Given the description of an element on the screen output the (x, y) to click on. 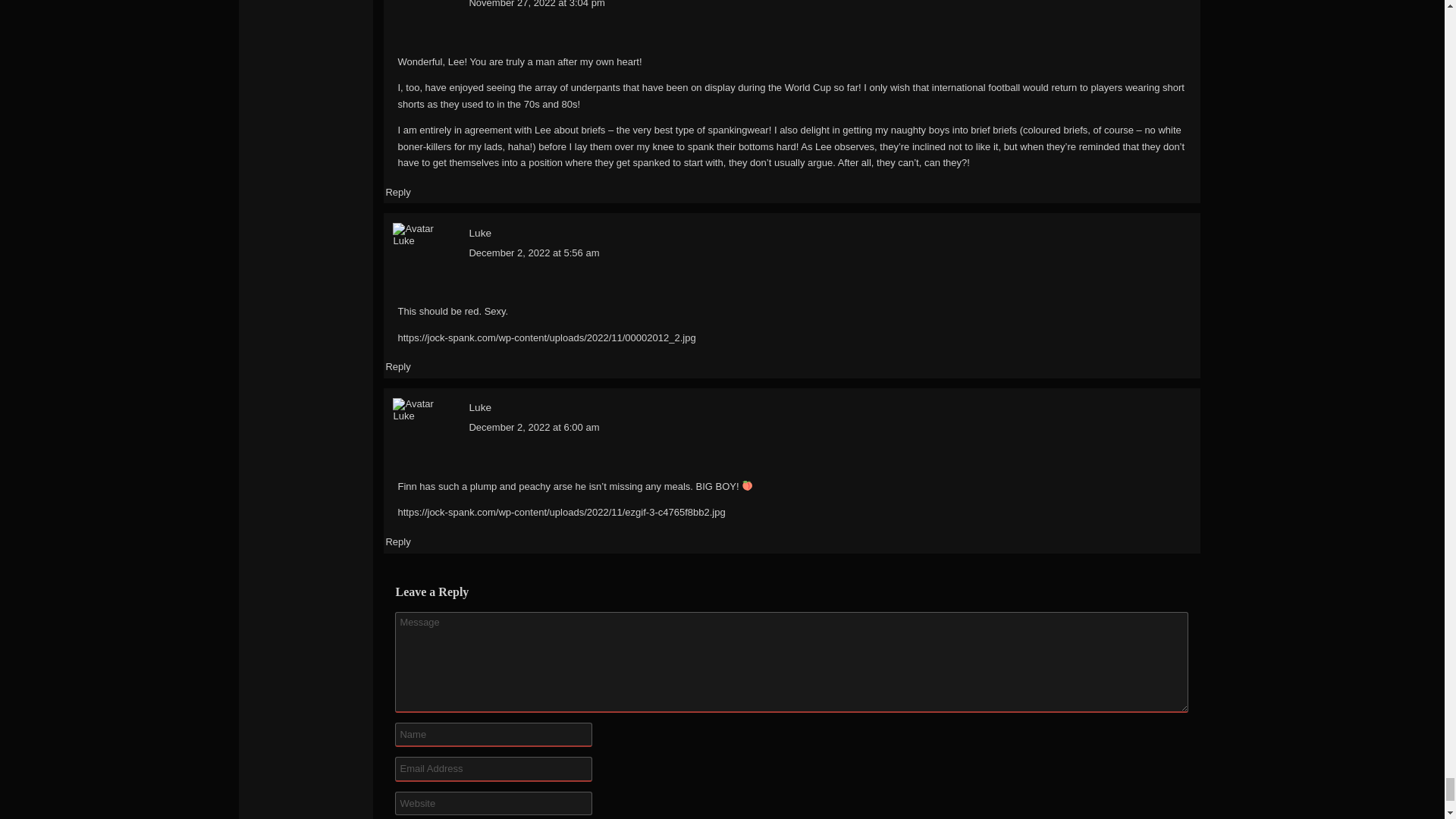
Required Your Name (493, 734)
Required Your Email (493, 768)
Required Your Message (791, 661)
